Given the description of an element on the screen output the (x, y) to click on. 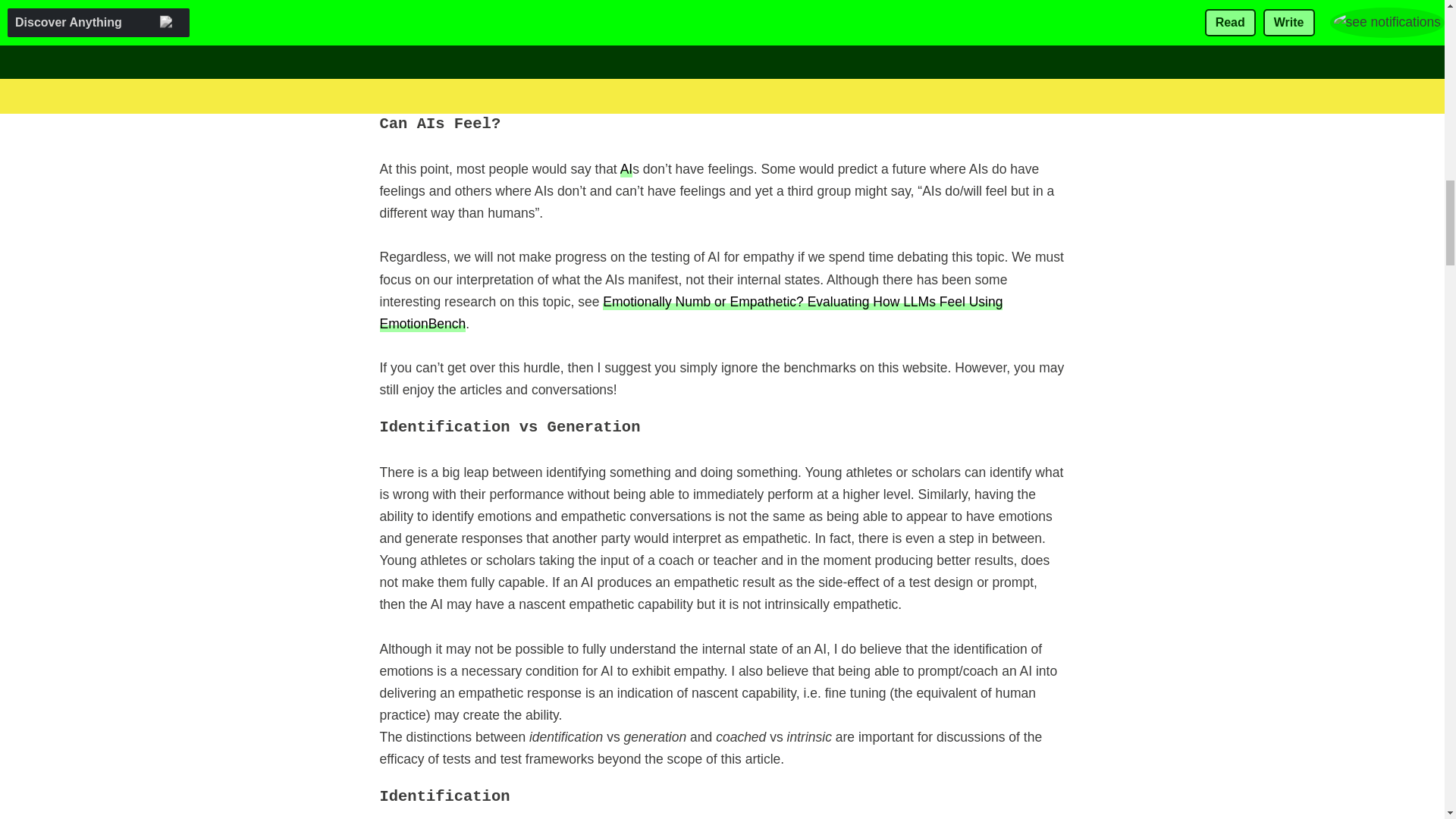
AI (626, 168)
